Given the description of an element on the screen output the (x, y) to click on. 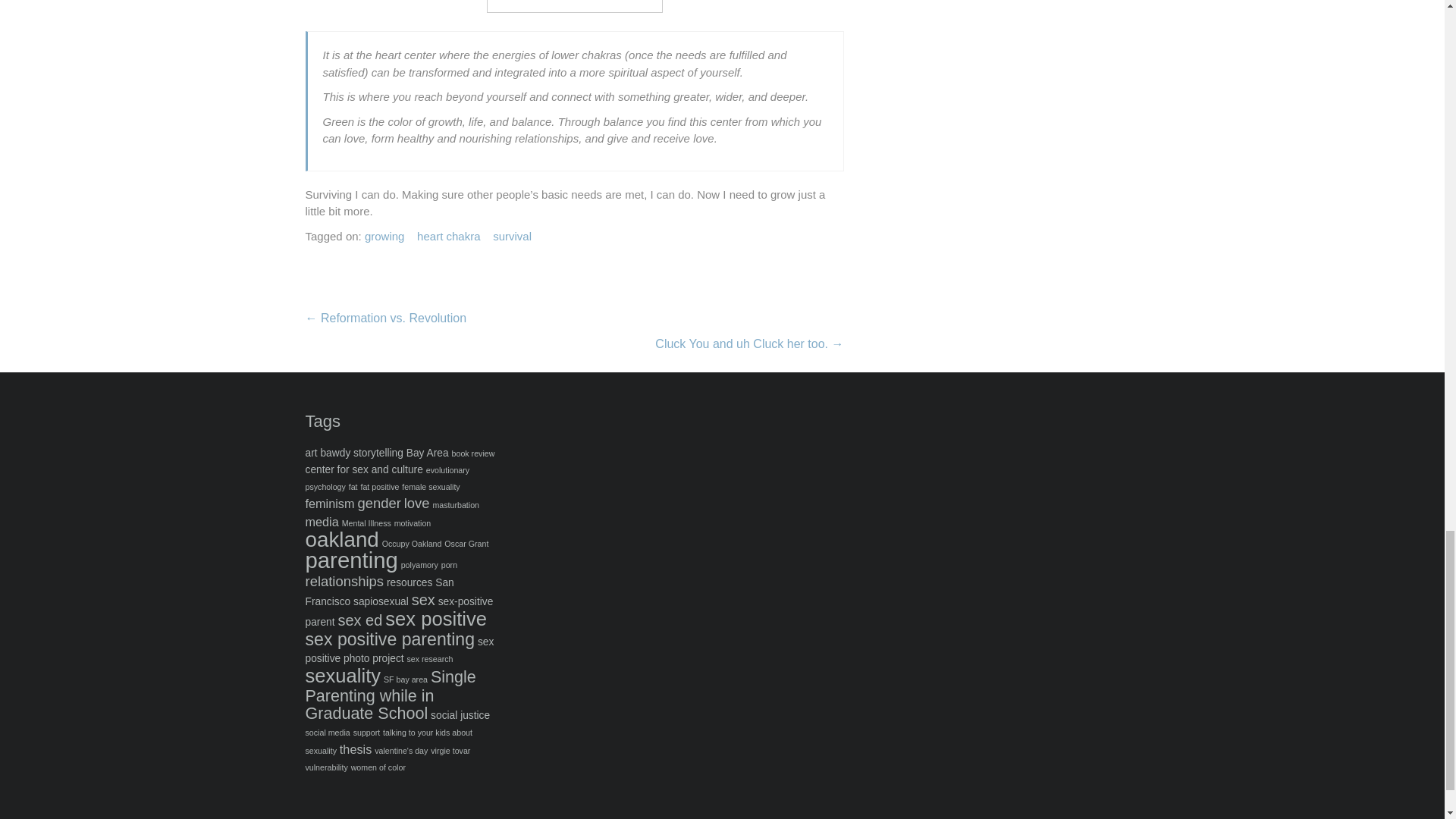
heart chakra (448, 236)
survival (512, 236)
growing (384, 236)
